Given the description of an element on the screen output the (x, y) to click on. 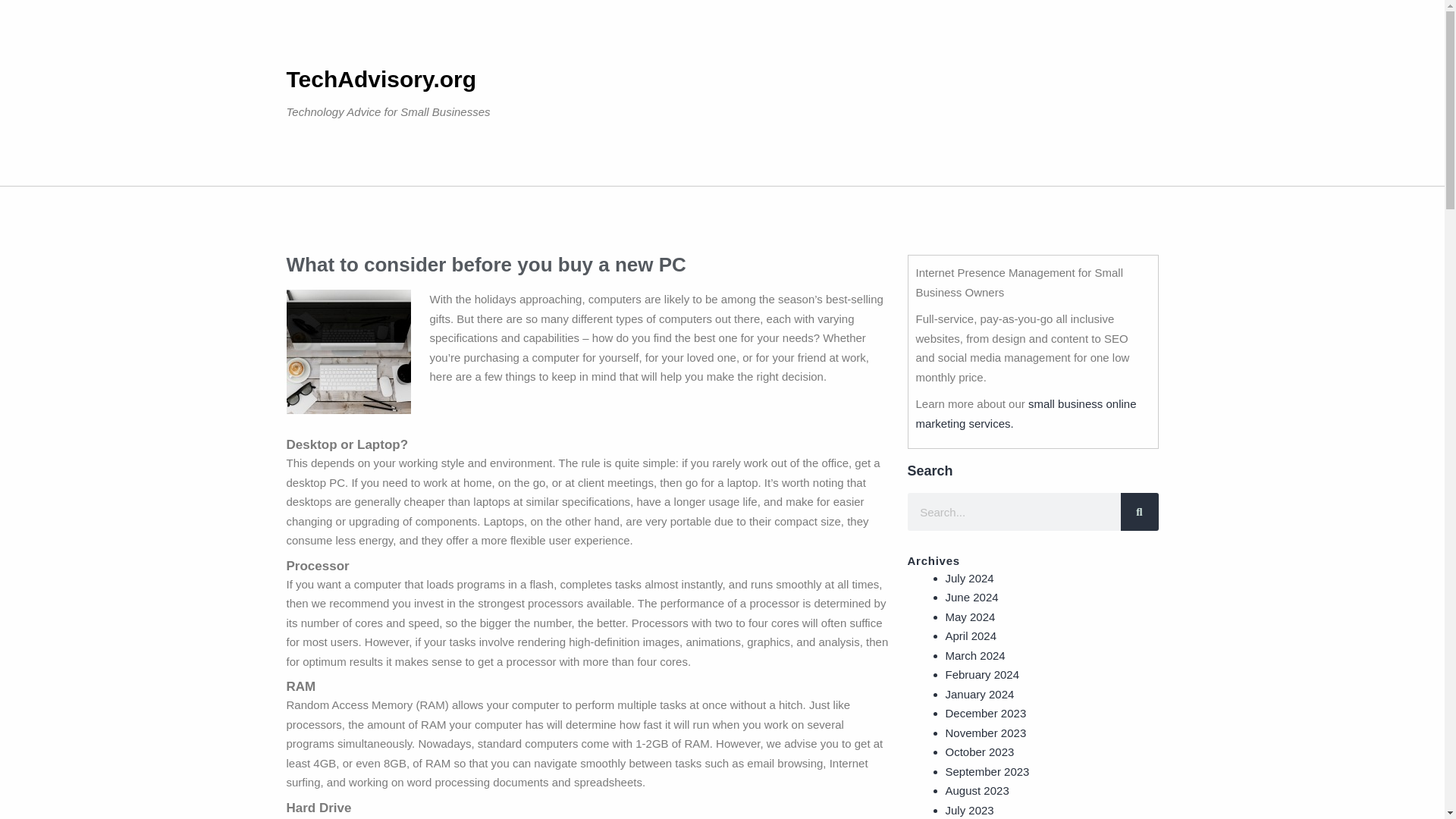
April 2024 (969, 635)
December 2023 (985, 712)
October 2023 (978, 751)
small business online marketing services. (1026, 413)
July 2023 (968, 809)
June 2024 (970, 596)
May 2024 (969, 615)
November 2023 (985, 732)
TechAdvisory.org (381, 78)
March 2024 (974, 655)
August 2023 (976, 789)
September 2023 (986, 770)
February 2024 (981, 674)
July 2024 (968, 577)
January 2024 (978, 693)
